Given the description of an element on the screen output the (x, y) to click on. 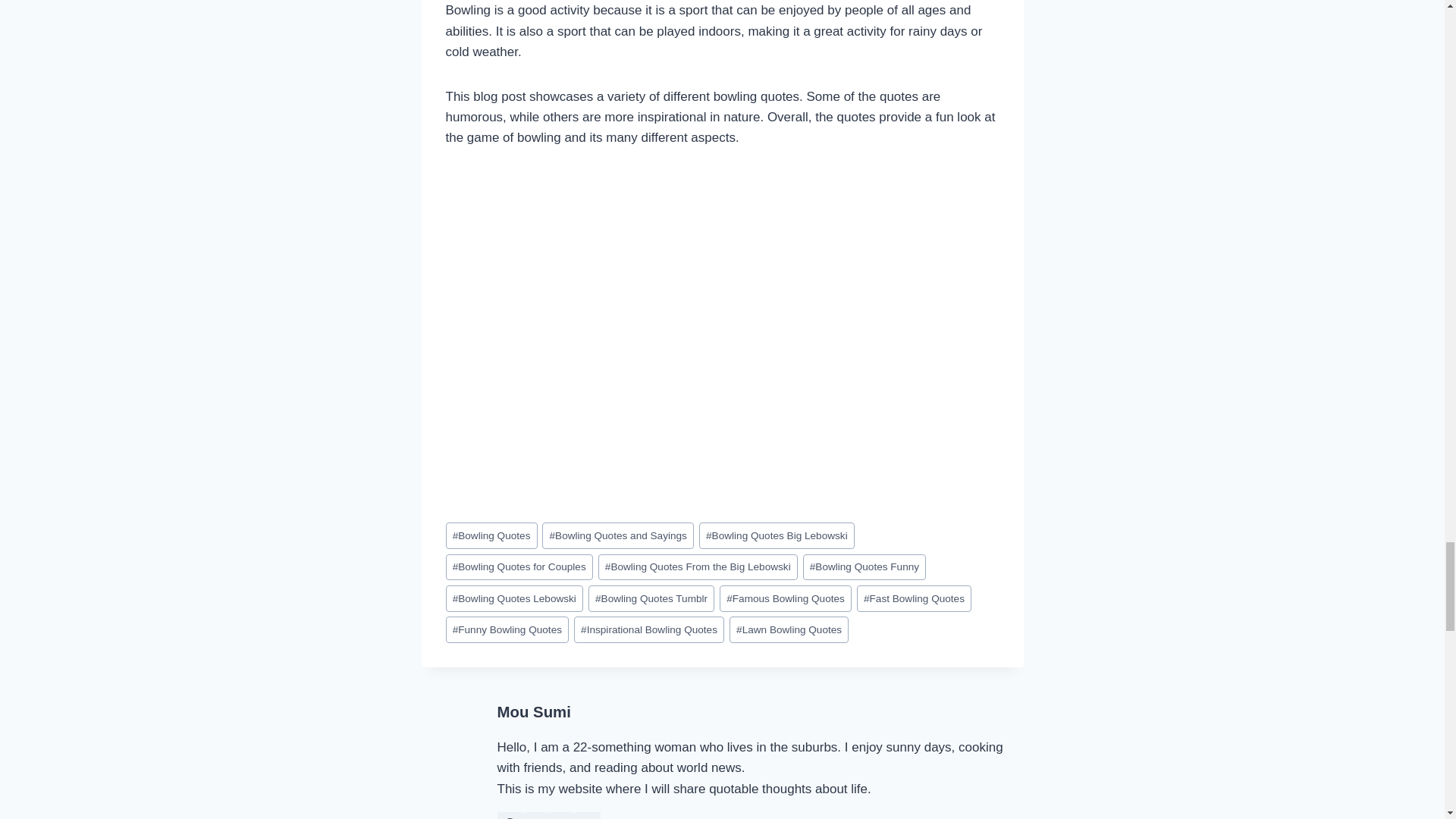
Posts by Mou Sumi (533, 711)
Bowling Quotes (491, 535)
Bowling Quotes Funny (864, 567)
Bowling Quotes for Couples (518, 567)
Bowling Quotes and Sayings (617, 535)
Follow Mou Sumi on Twitter (535, 815)
Fast Bowling Quotes (914, 598)
Bowling Quotes Tumblr (651, 598)
Follow Mou Sumi on Facebook (509, 815)
